Given the description of an element on the screen output the (x, y) to click on. 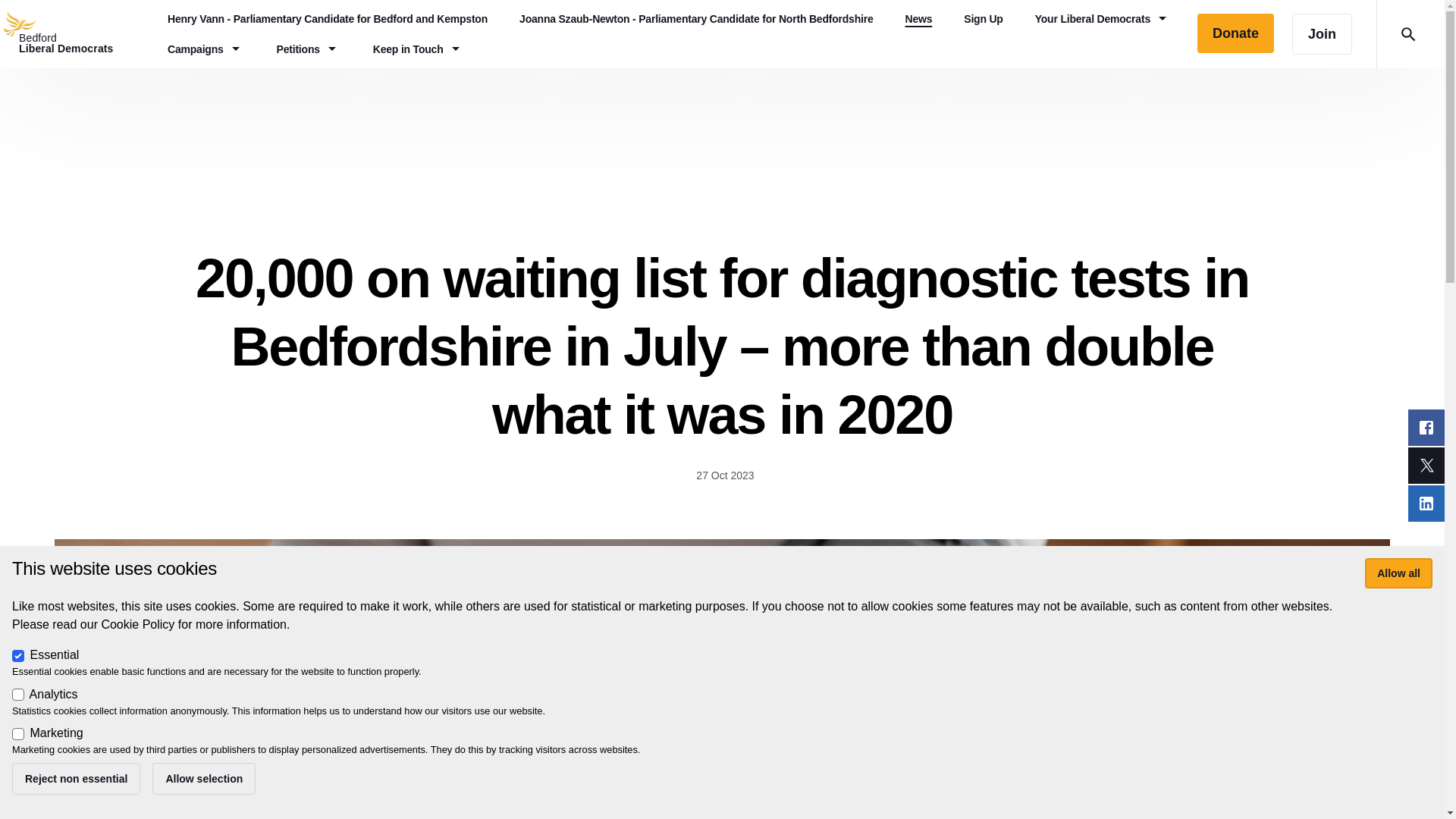
1 (17, 734)
Campaigns (205, 49)
1 (17, 694)
Allow all (1398, 572)
Allow selection (204, 778)
Sign Up (983, 19)
News (919, 19)
